Given the description of an element on the screen output the (x, y) to click on. 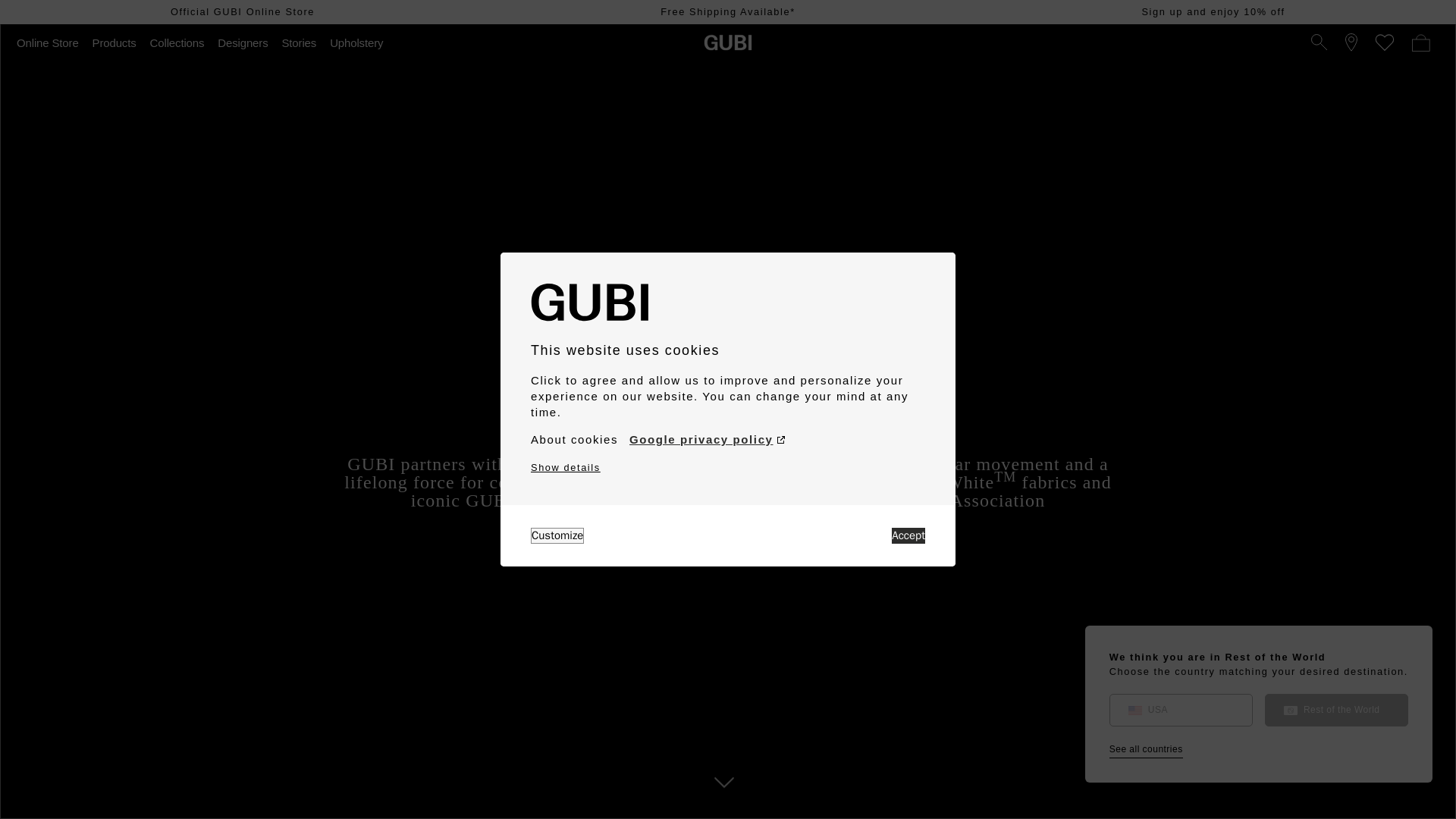
Google privacy policy (707, 439)
Show details (565, 467)
About cookies (574, 439)
